Given the description of an element on the screen output the (x, y) to click on. 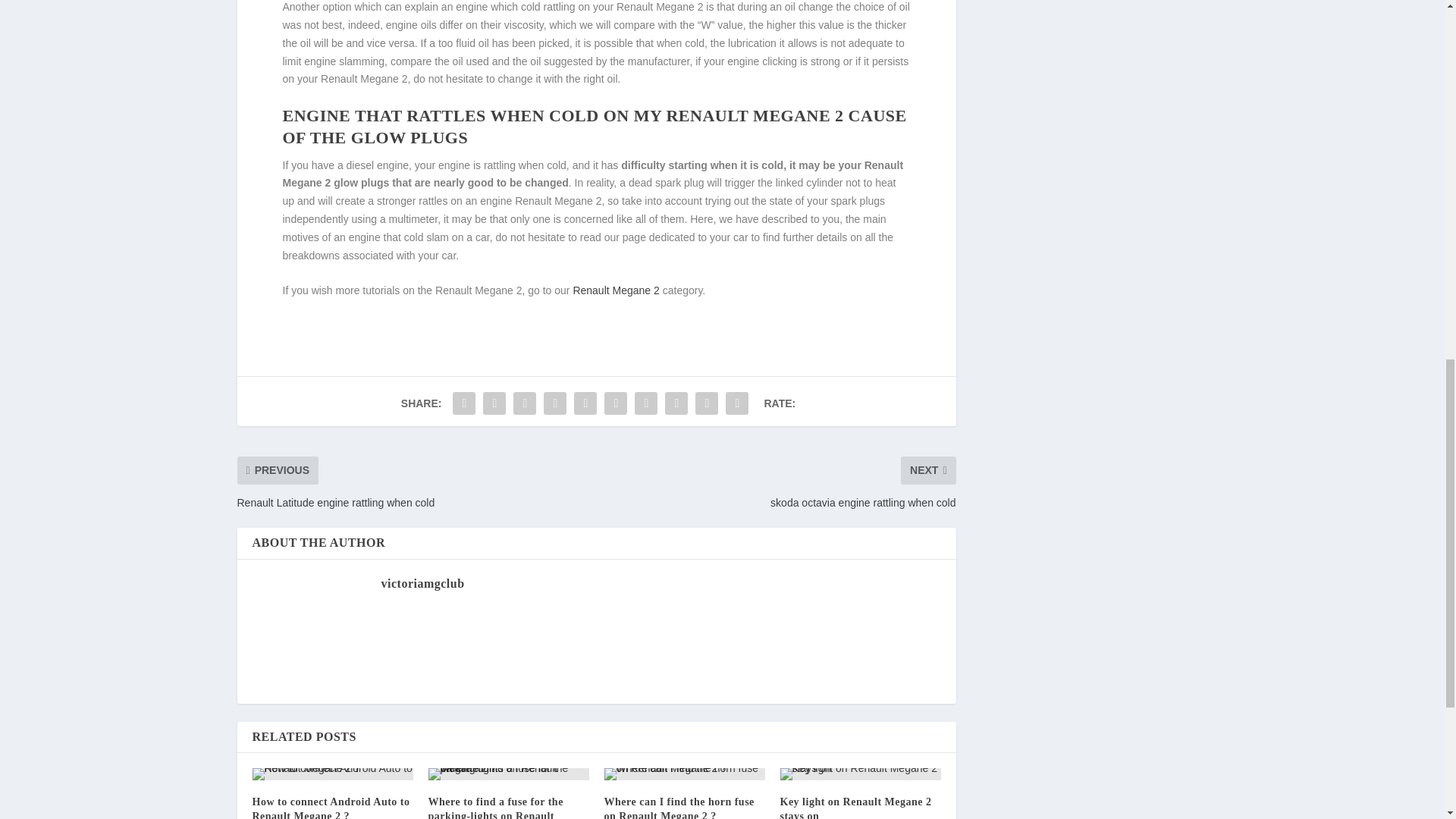
How to connect Android Auto to Renault Megane 2 ? (330, 807)
Renault Megane 2 (615, 290)
Where can I find the horn fuse on Renault Megane 2 ? (679, 807)
Share "Renault Megane 2 engine rattling when cold" via Email (706, 403)
Key light on Renault Megane 2 stays on (854, 807)
victoriamgclub (422, 583)
Share "Renault Megane 2 engine rattling when cold" via Print (737, 403)
